Given the description of an element on the screen output the (x, y) to click on. 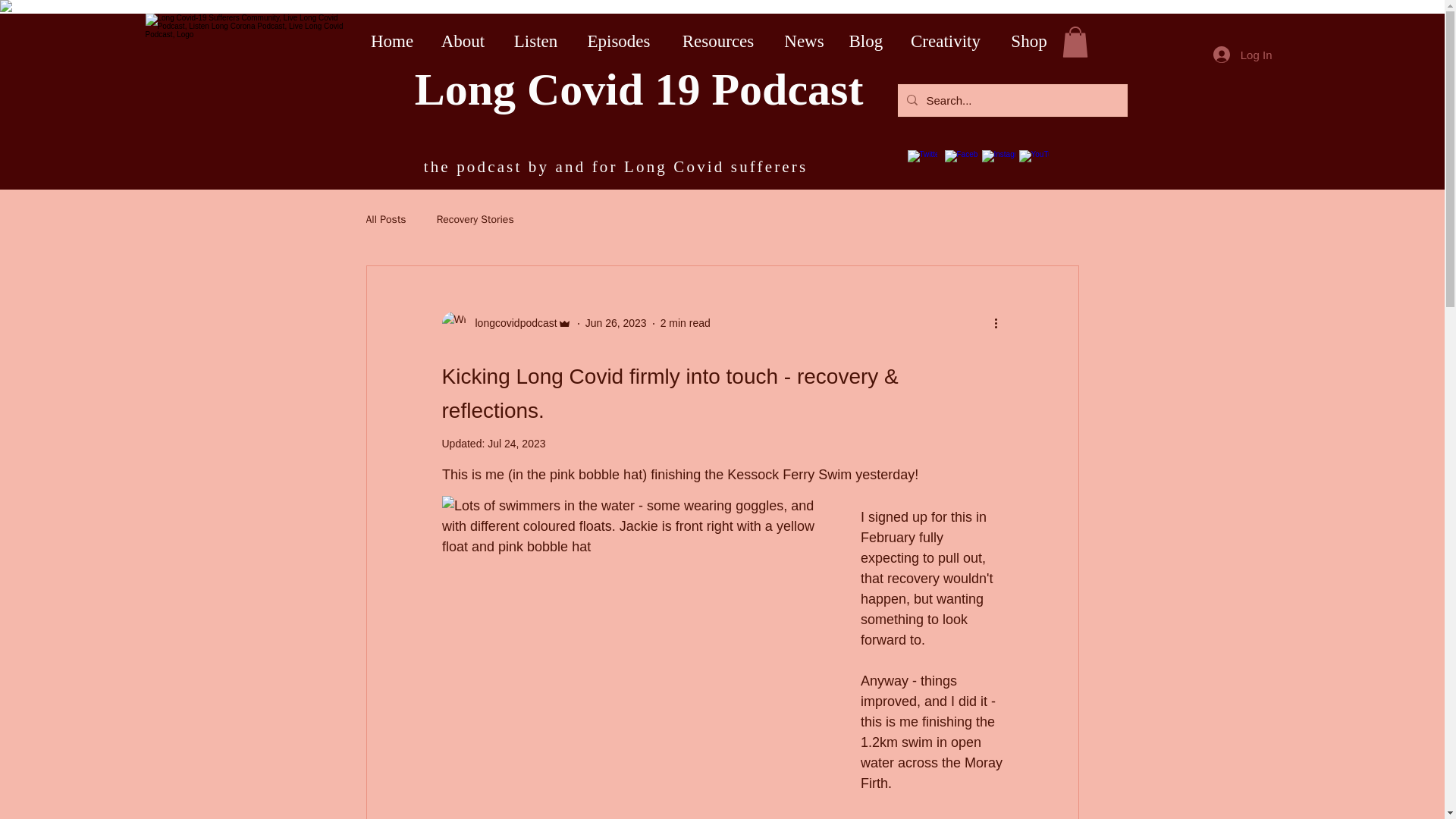
Jul 24, 2023 (515, 443)
News (803, 41)
All Posts (385, 219)
About (462, 41)
Jun 26, 2023 (615, 322)
Home (392, 41)
Shop (1029, 41)
Resources (718, 41)
Blog (865, 41)
Recovery Stories (474, 219)
Creativity (945, 41)
Long Covid 19 Podcast (638, 89)
the podcast by and for Long Covid sufferers (615, 167)
Log In (1242, 54)
longcovidpodcast (510, 323)
